Given the description of an element on the screen output the (x, y) to click on. 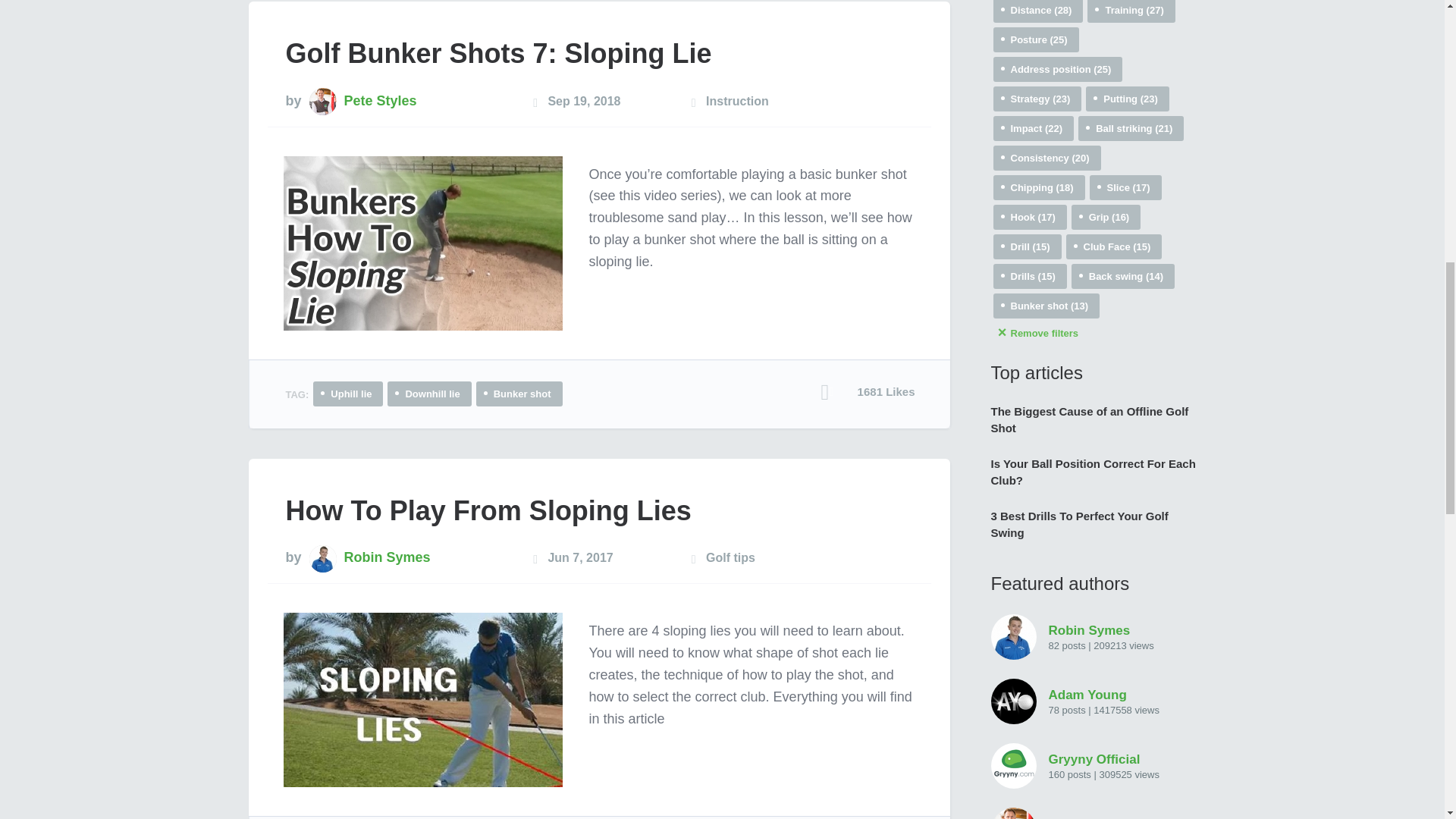
The Biggest Cause of an Offline Golf Shot (1092, 419)
Remove filters (1092, 333)
